Given the description of an element on the screen output the (x, y) to click on. 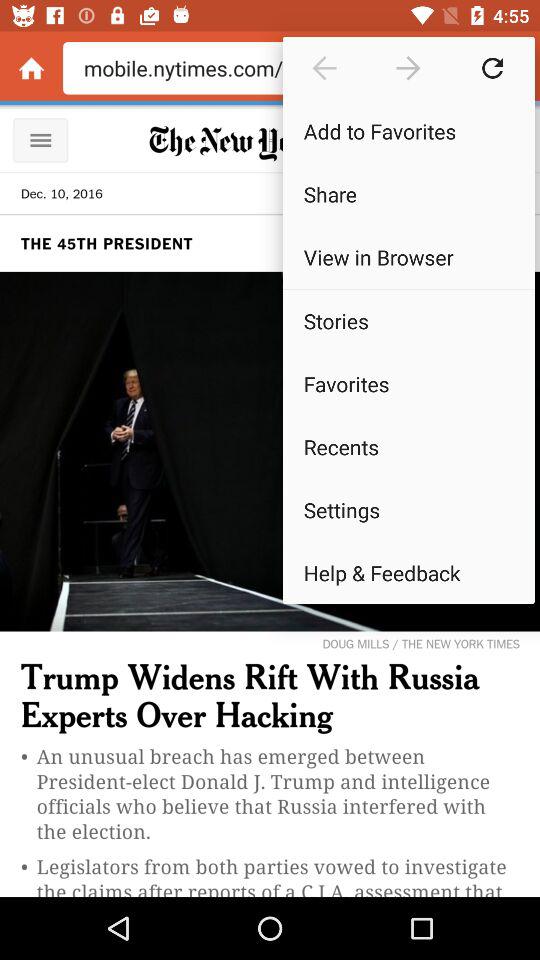
turn off the icon above the add to favorites item (324, 67)
